Given the description of an element on the screen output the (x, y) to click on. 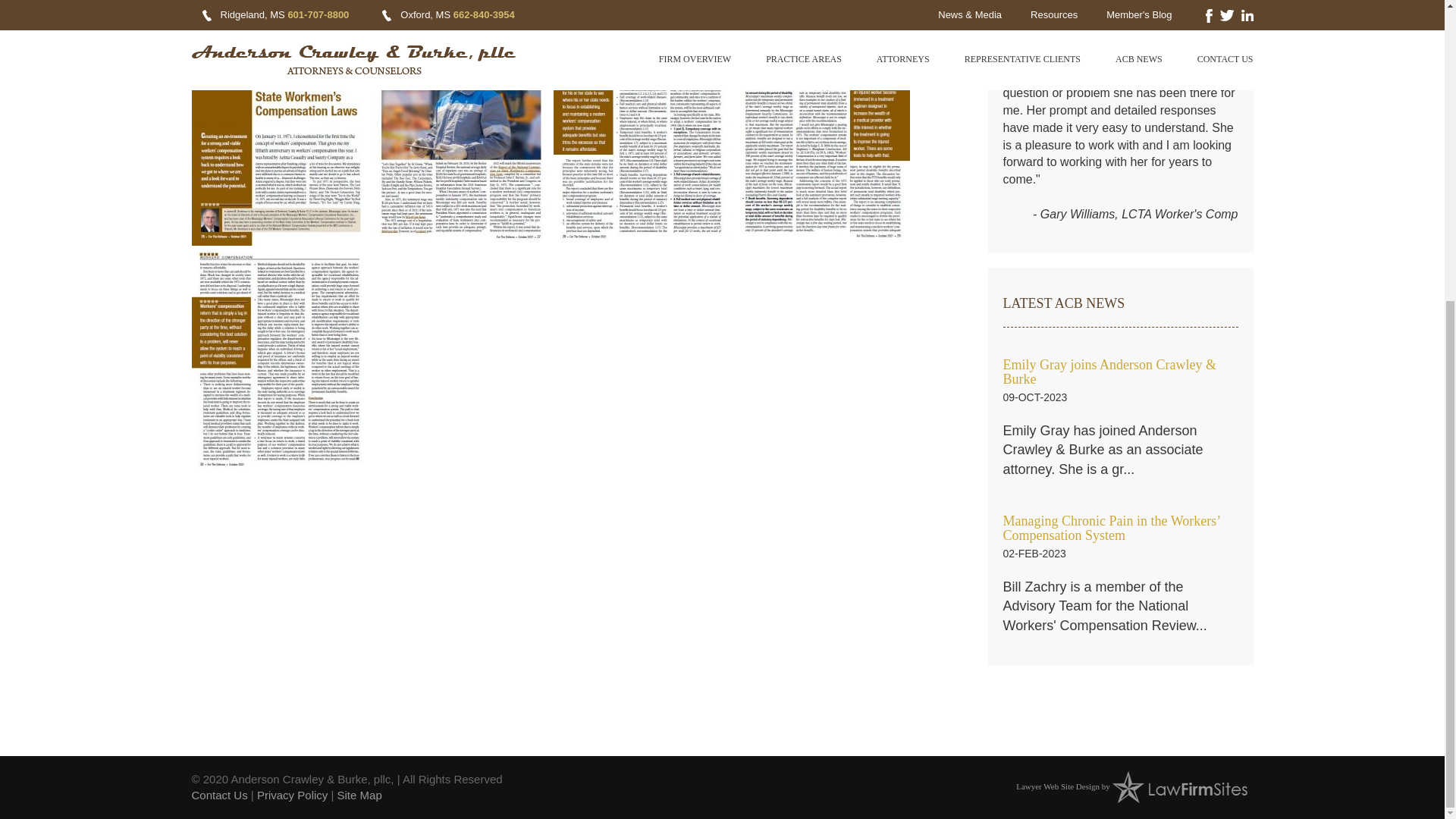
Contact Us (218, 794)
Lawyer Web Site Design (1057, 786)
Lawyer Web Site Design (1057, 786)
Privacy Policy (292, 794)
Site Map (359, 794)
